Given the description of an element on the screen output the (x, y) to click on. 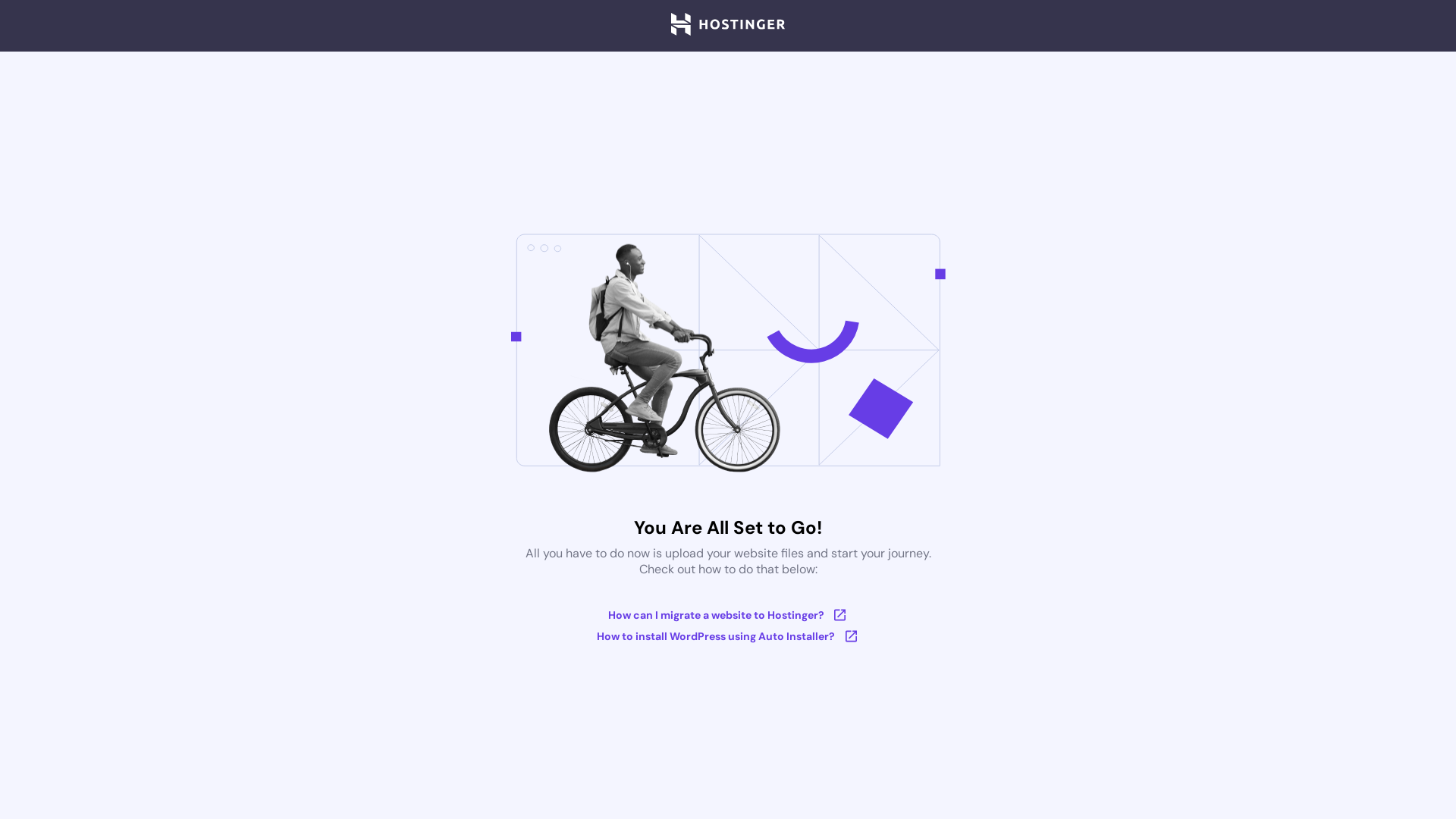
How to install WordPress using Auto Installer? Element type: text (727, 635)
How can I migrate a website to Hostinger? Element type: text (727, 614)
